Given the description of an element on the screen output the (x, y) to click on. 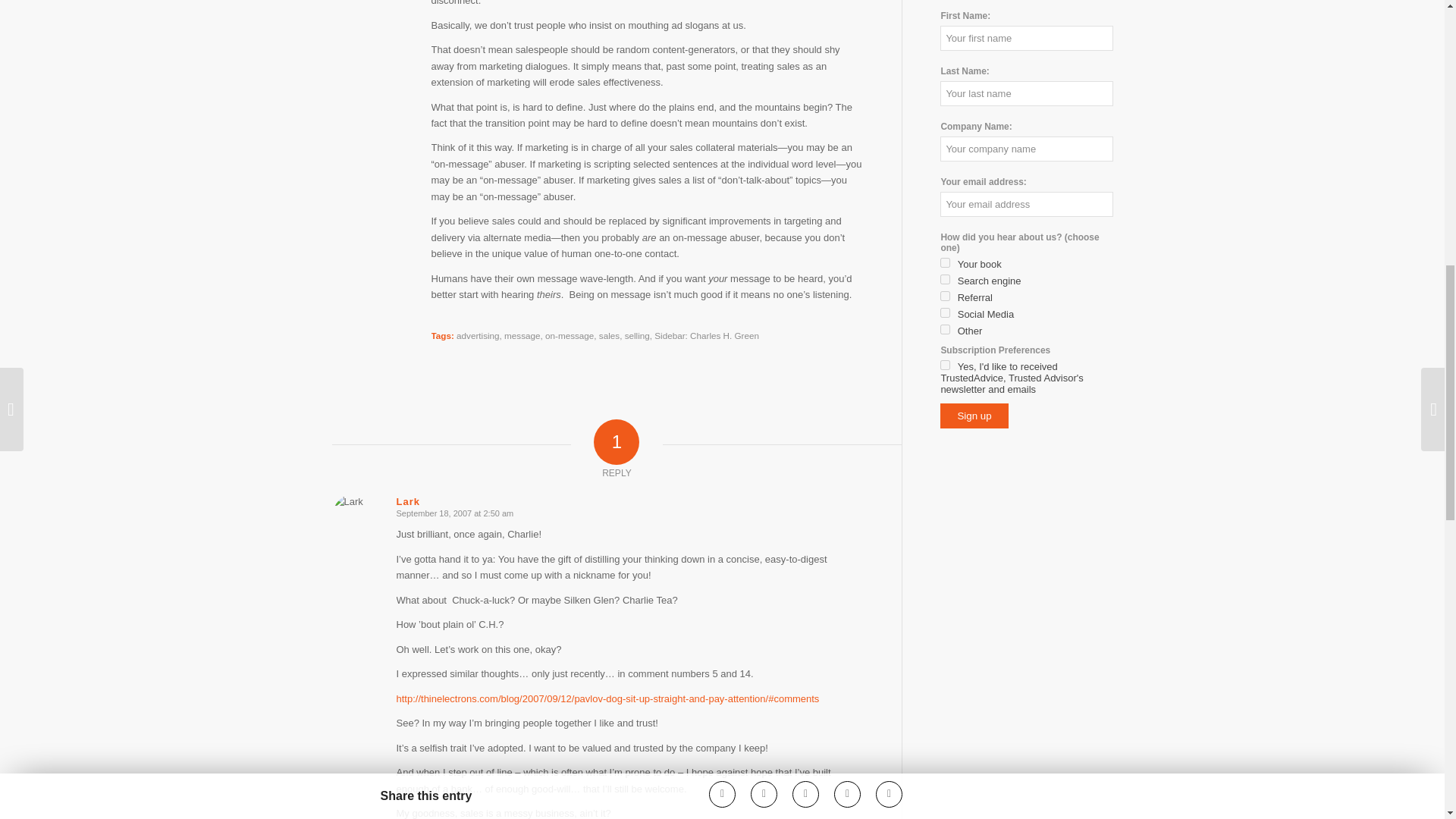
Sign up (973, 415)
912ff72f55 (945, 262)
f075c13823 (945, 329)
baf4bb8faf (945, 365)
d85526bff0 (945, 279)
79a4ac4cc9 (945, 296)
f6b8896cba (945, 312)
